Given the description of an element on the screen output the (x, y) to click on. 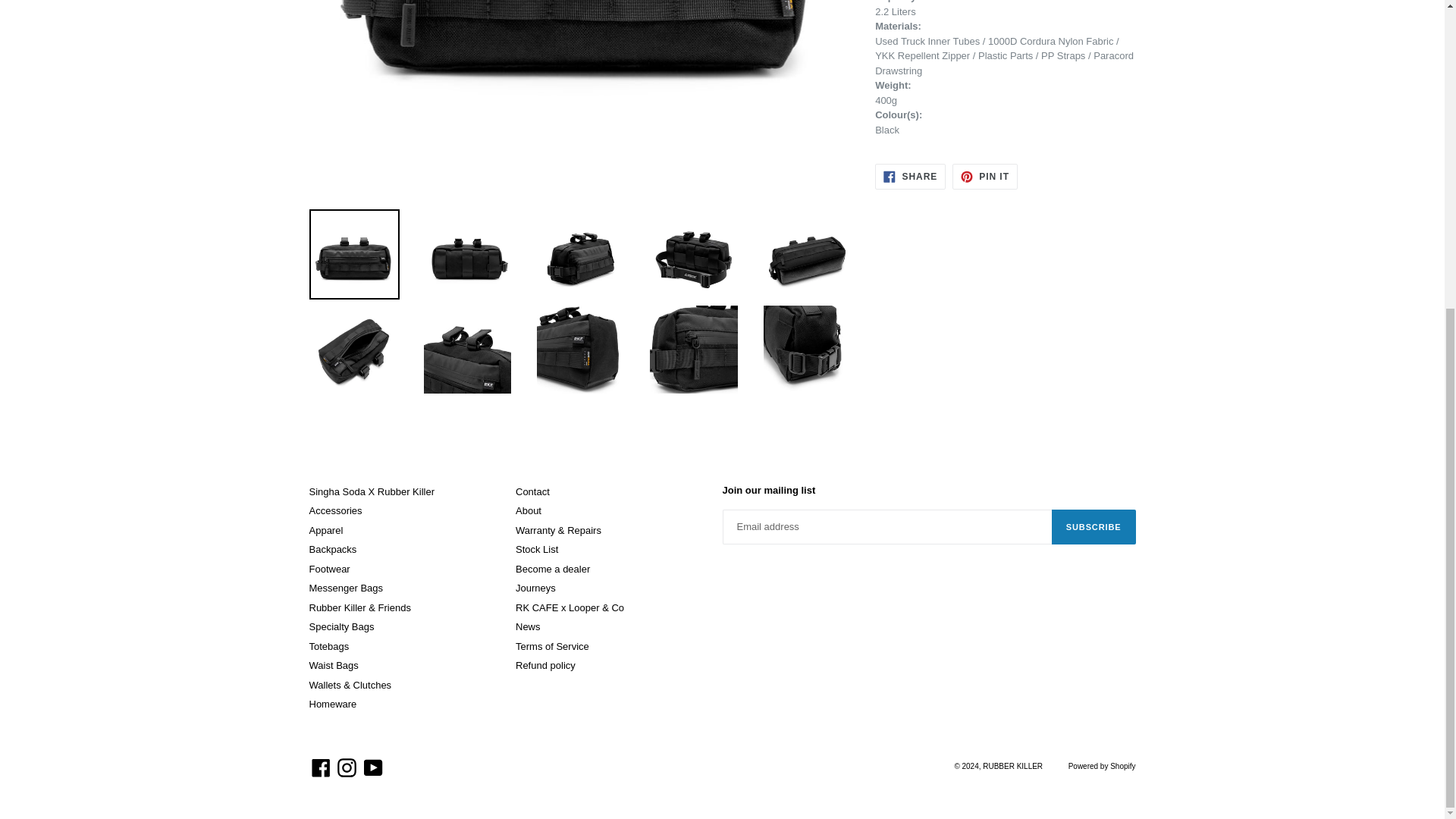
RUBBER KILLER on Instagram (346, 767)
Pin on Pinterest (984, 176)
Share on Facebook (909, 176)
RUBBER KILLER on YouTube (373, 767)
RUBBER KILLER on Facebook (320, 767)
